Given the description of an element on the screen output the (x, y) to click on. 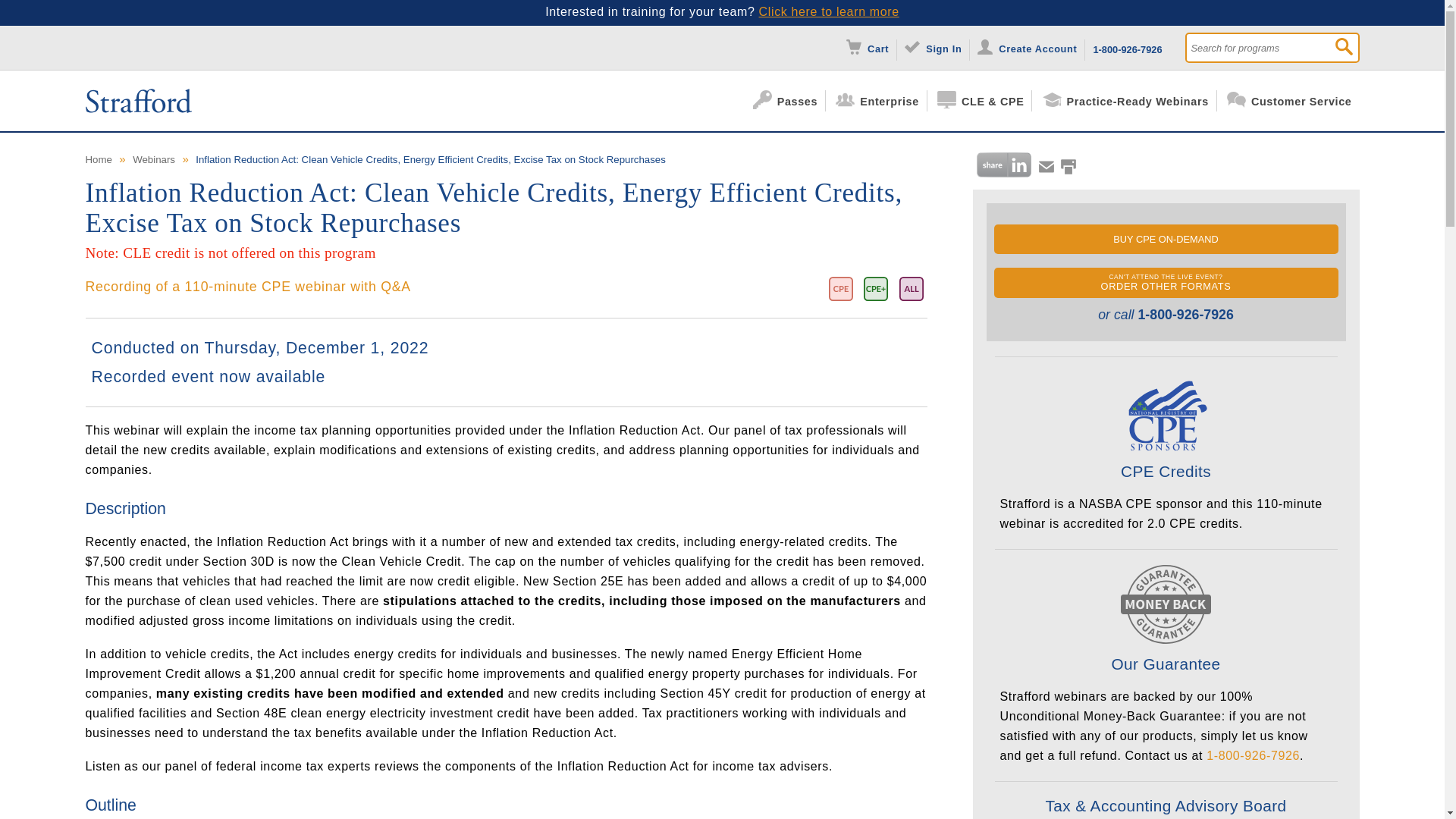
Buy CPE On-Demand (1165, 238)
Sign In (936, 46)
Create Account (1030, 46)
1-800-926-7926 (1126, 47)
Click here to learn more (828, 11)
Enterprise (880, 100)
Passes (788, 100)
Cart (870, 46)
